Given the description of an element on the screen output the (x, y) to click on. 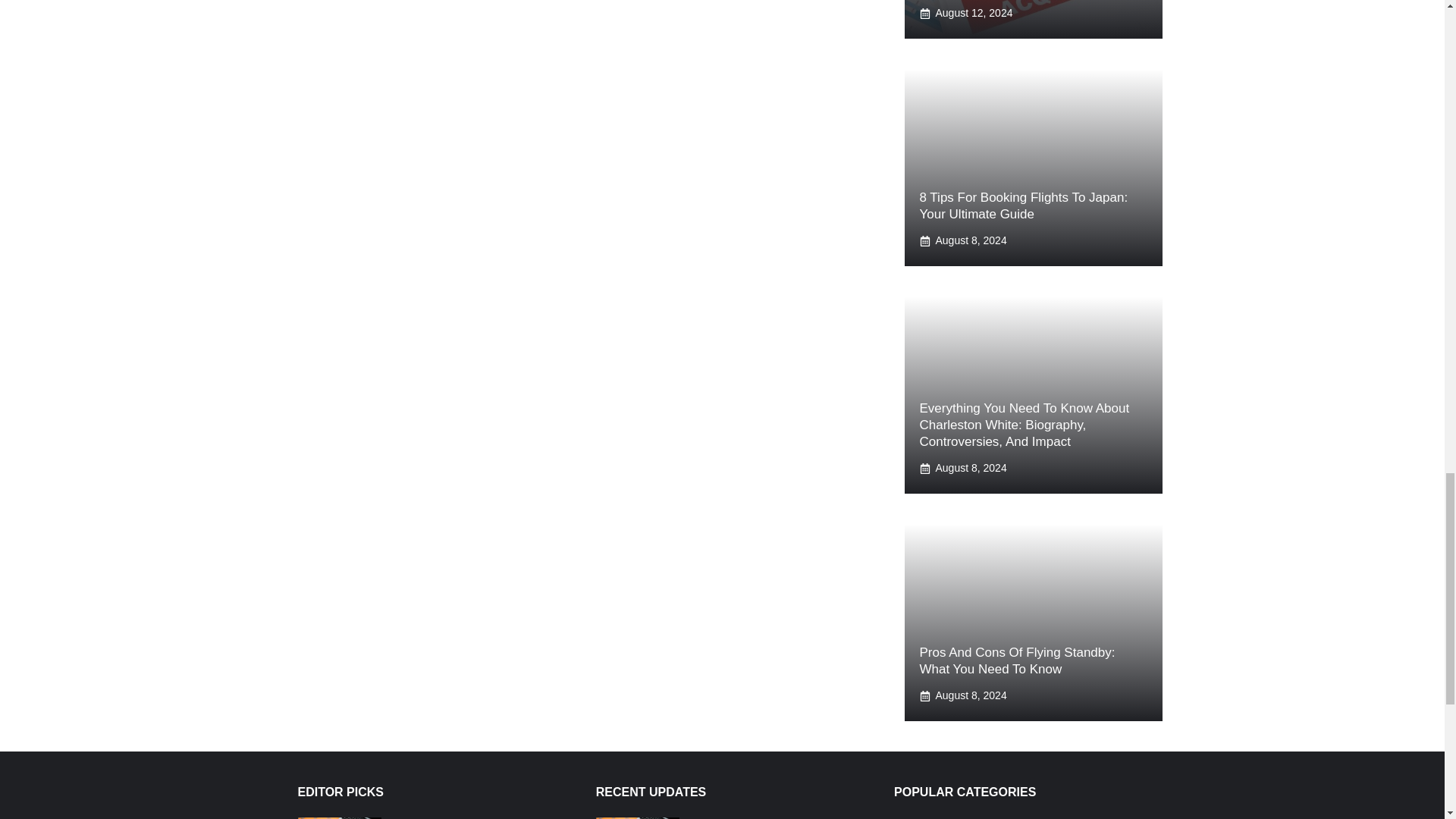
Pros And Cons Of Flying Standby: What You Need To Know (1016, 660)
8 Tips For Booking Flights To Japan: Your Ultimate Guide (1022, 205)
